Given the description of an element on the screen output the (x, y) to click on. 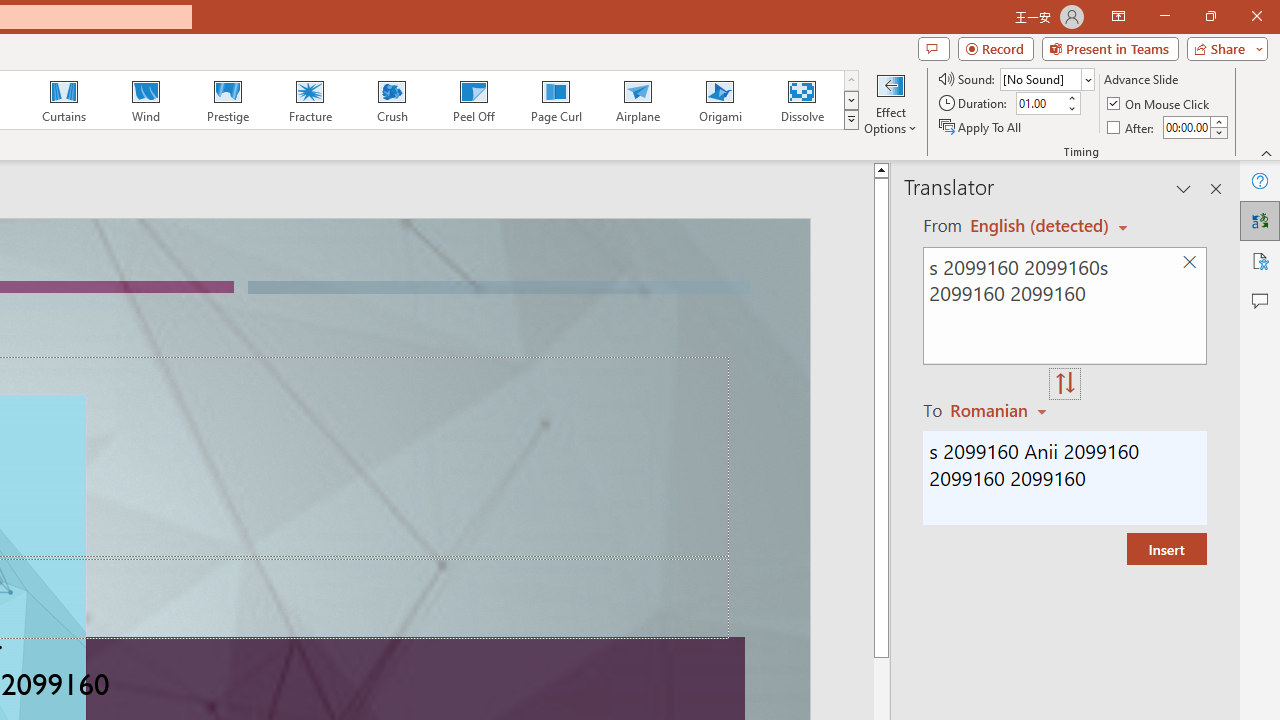
Sound (1046, 78)
Fracture (309, 100)
Duration (1039, 103)
Dissolve (802, 100)
Crush (391, 100)
Curtains (63, 100)
